Given the description of an element on the screen output the (x, y) to click on. 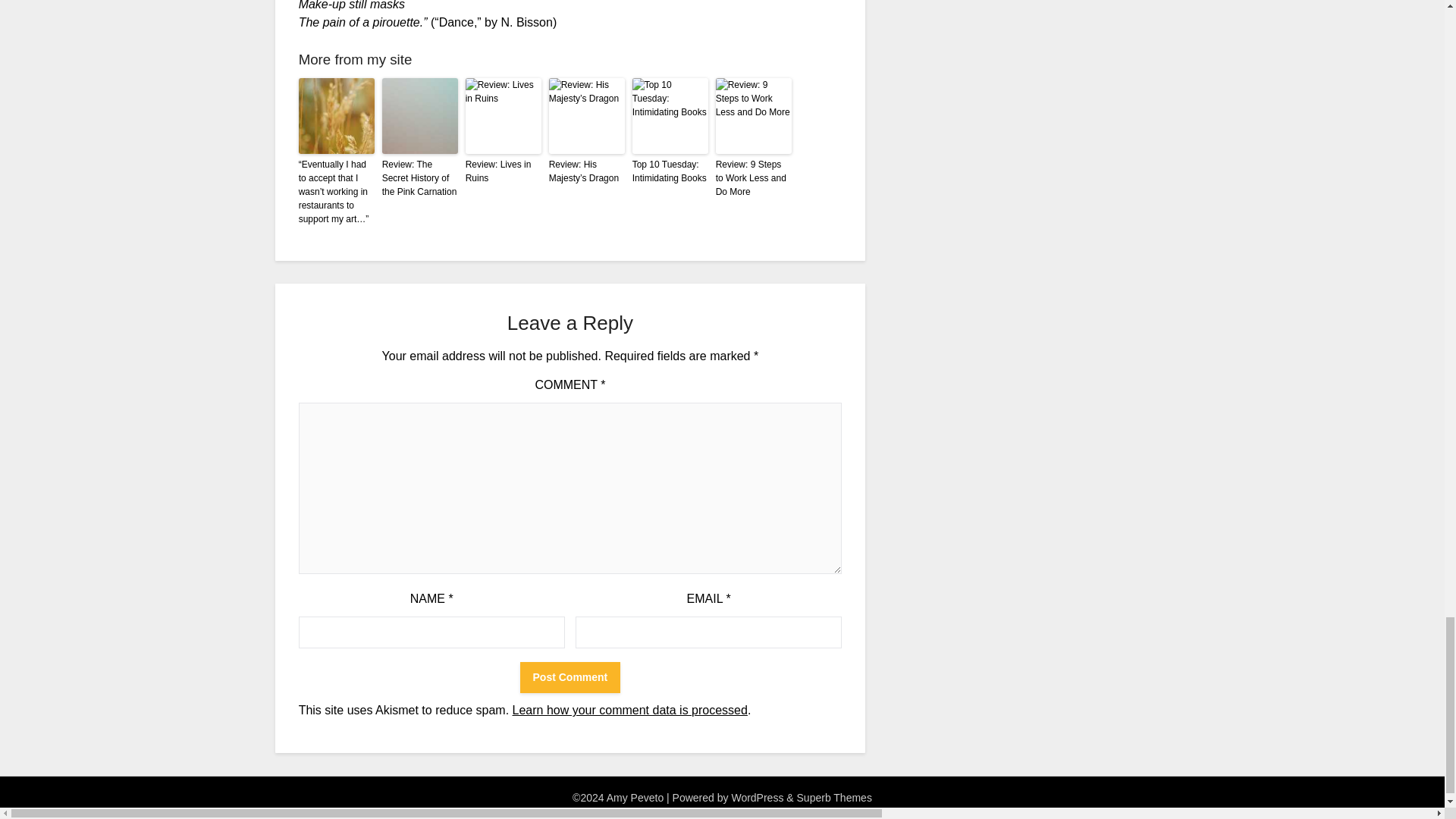
Review: Lives in Ruins (503, 171)
Learn how your comment data is processed (630, 709)
Review: 9 Steps to Work Less and Do More (754, 178)
Top 10 Tuesday: Intimidating Books (669, 171)
Post Comment (570, 676)
Superb Themes (834, 797)
Post Comment (570, 676)
WordPress (756, 797)
Review: The Secret History of the Pink Carnation (419, 178)
